Given the description of an element on the screen output the (x, y) to click on. 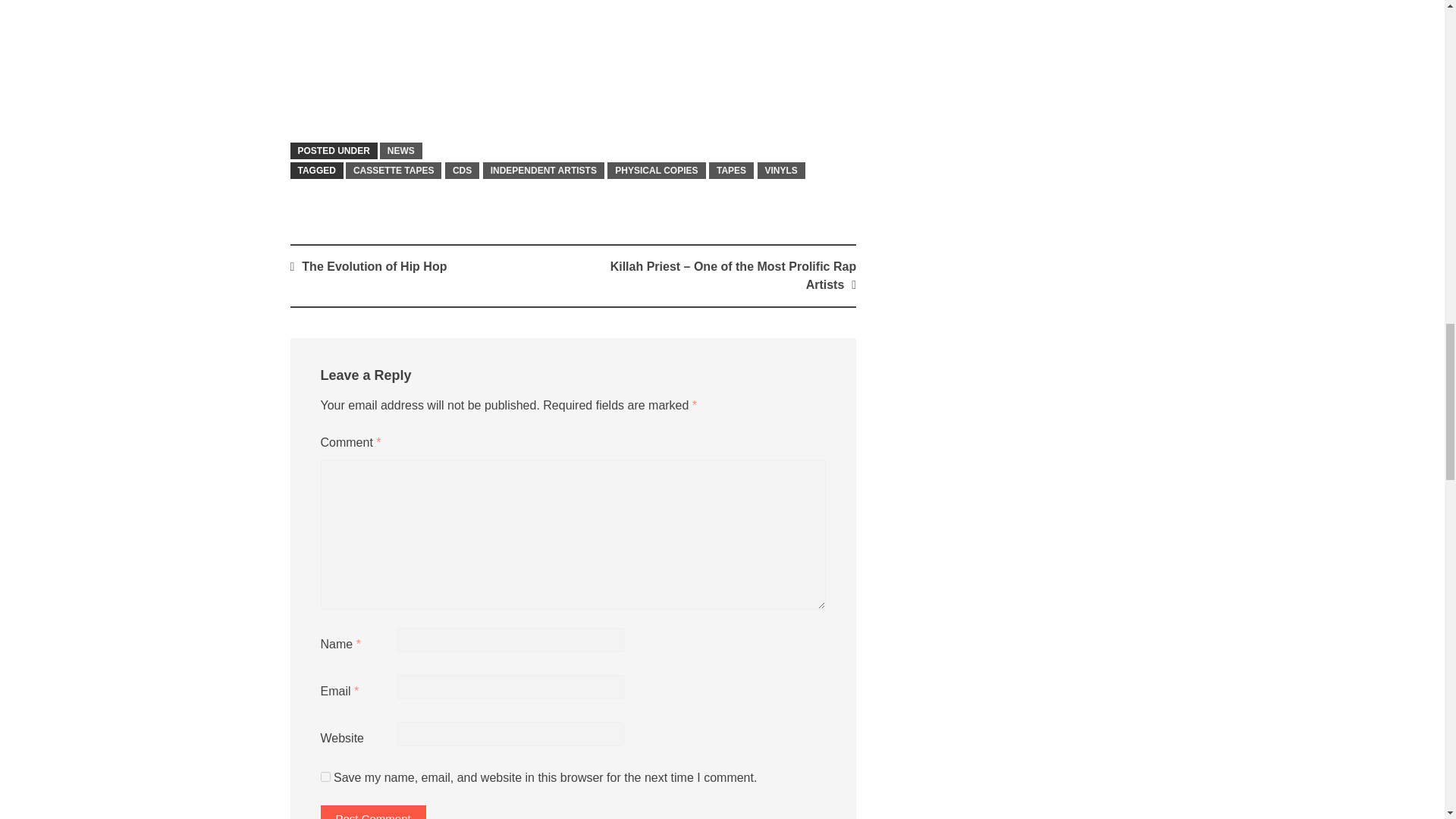
CDS (462, 170)
PHYSICAL COPIES (655, 170)
Post Comment (372, 812)
YouTube player (572, 56)
VINYLS (781, 170)
Post Comment (372, 812)
CASSETTE TAPES (393, 170)
TAPES (731, 170)
NEWS (401, 150)
The Evolution of Hip Hop (373, 266)
yes (325, 777)
INDEPENDENT ARTISTS (543, 170)
